Given the description of an element on the screen output the (x, y) to click on. 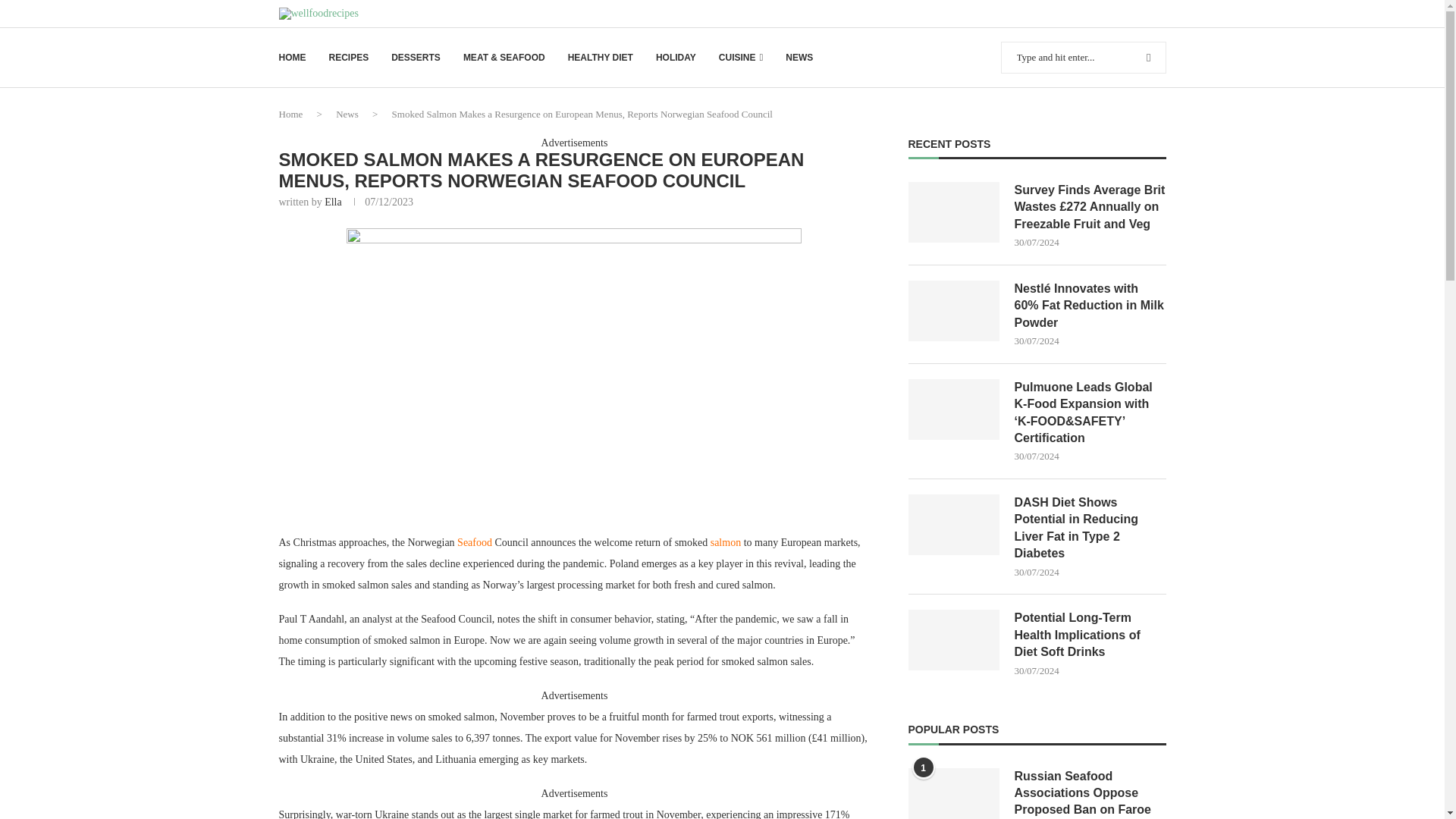
CUISINE (740, 57)
RECIPES (349, 57)
fish-dishes (574, 370)
HEALTHY DIET (600, 57)
DESSERTS (416, 57)
HOLIDAY (675, 57)
